Given the description of an element on the screen output the (x, y) to click on. 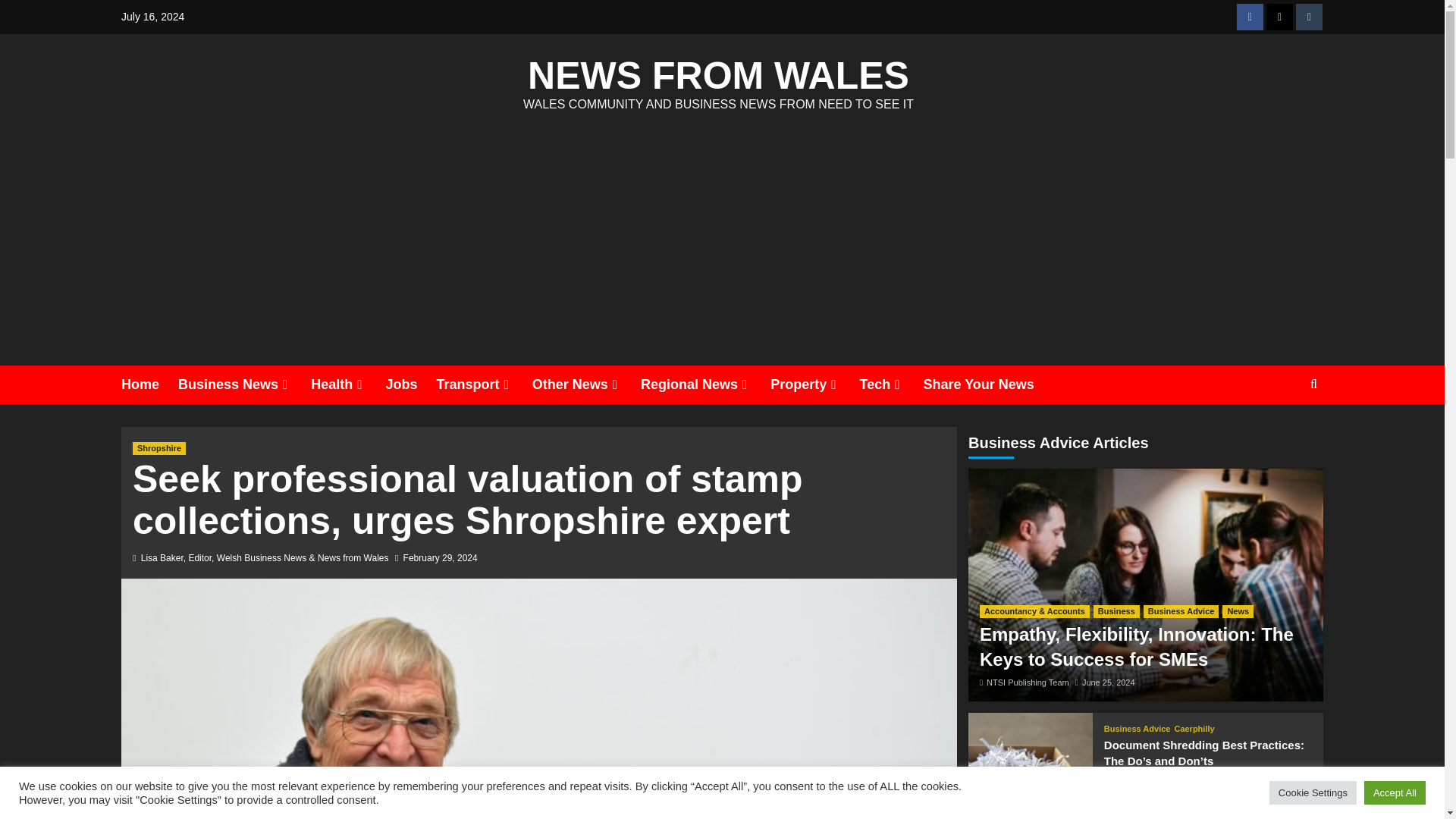
Follow us on Facebook (1249, 17)
Transport (484, 384)
Home (148, 384)
NEWS FROM WALES (717, 75)
Business News (244, 384)
Jobs (410, 384)
Follow us on Twitter (1279, 17)
Health (348, 384)
Follow us on Tumblr (1308, 17)
Other News (586, 384)
